Given the description of an element on the screen output the (x, y) to click on. 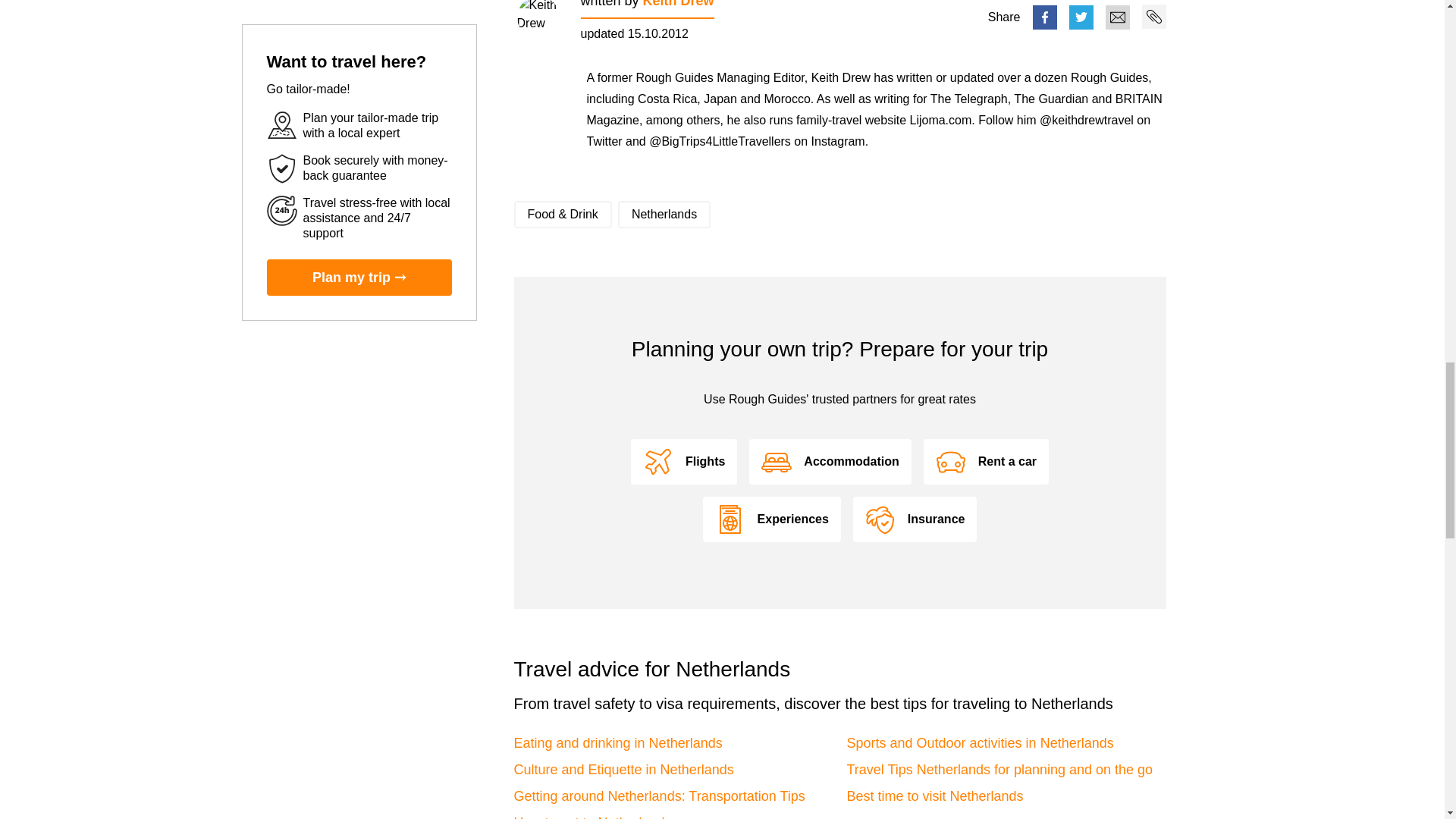
Netherlands (664, 214)
Insurance (914, 519)
Getting around Netherlands: Transportation Tips (659, 795)
Rent a car (985, 461)
Eating and drinking in Netherlands (617, 743)
Experiences (772, 519)
Culture and Etiquette in Netherlands (623, 769)
Accommodation (830, 461)
How to get to Netherlands (592, 816)
Keith Drew (678, 4)
